Given the description of an element on the screen output the (x, y) to click on. 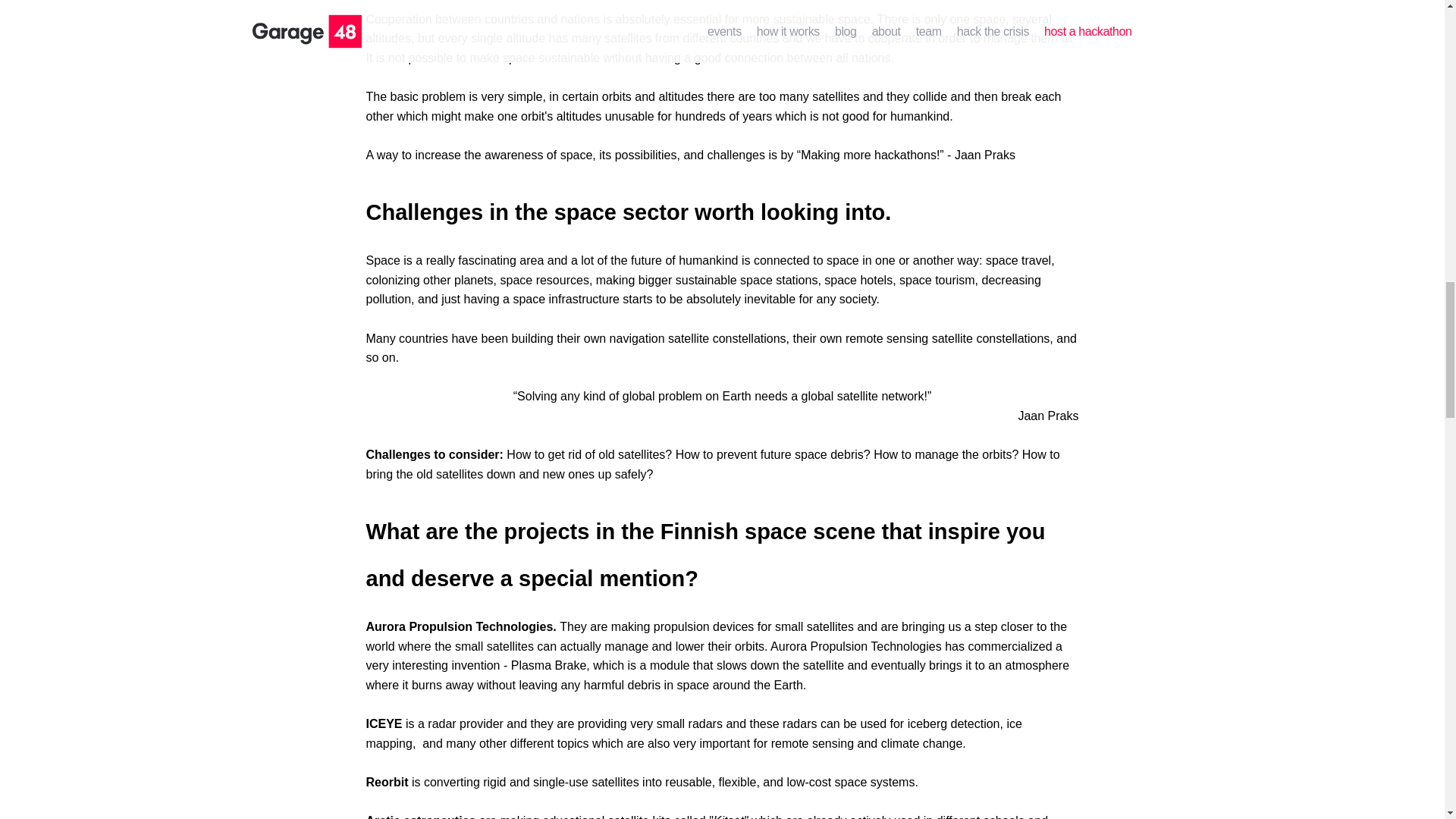
Arctic astronautics (420, 816)
Aurora Propulsion Technologies (459, 626)
ICEYE (383, 723)
Reorbit is (394, 781)
